Given the description of an element on the screen output the (x, y) to click on. 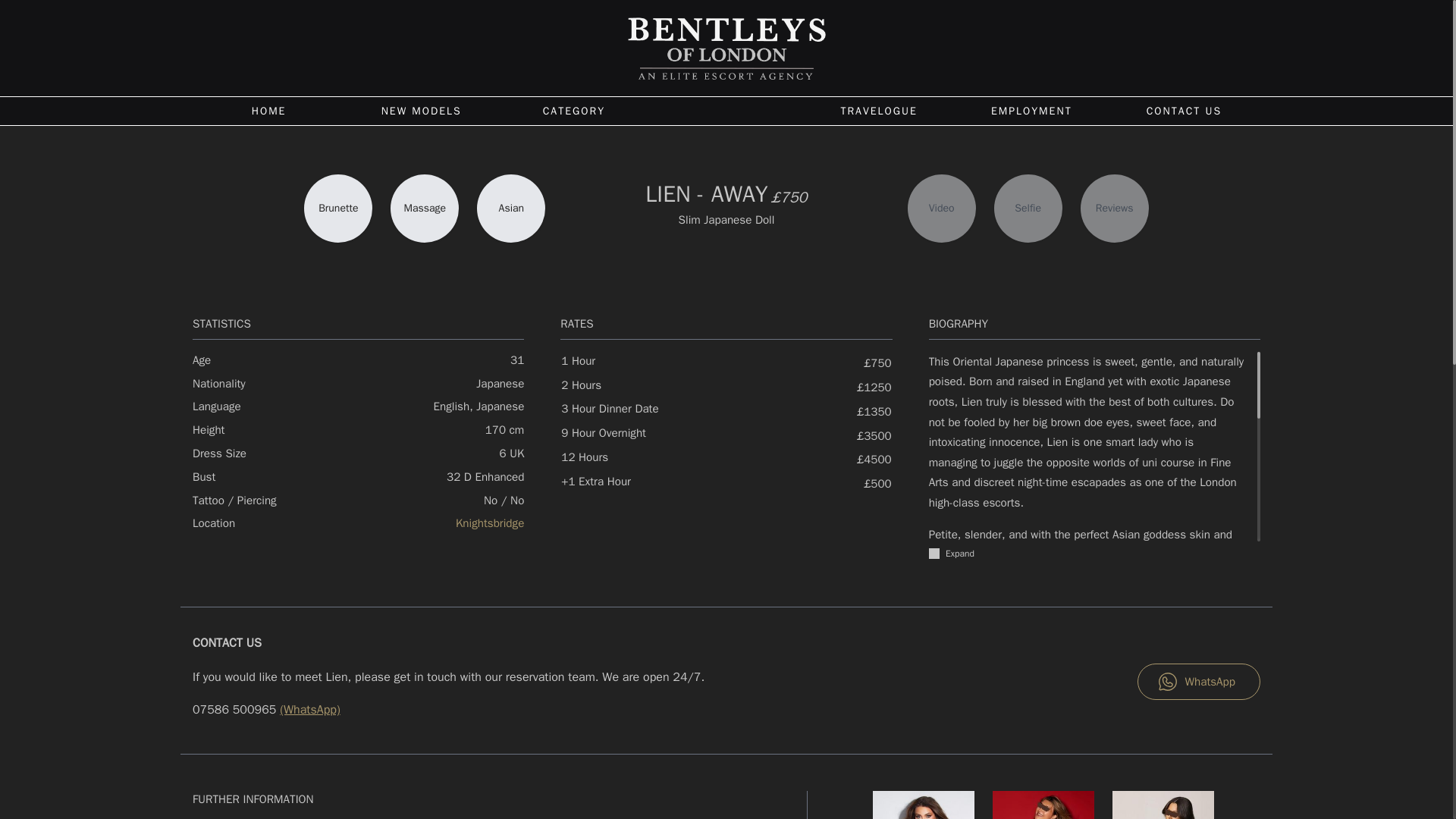
HOME (268, 111)
Asian (510, 208)
Selfie (1028, 208)
Brunette (338, 208)
Video (941, 208)
CATEGORY (573, 111)
Brunette (338, 208)
WhatsApp (1198, 681)
Asian (510, 208)
INTERNATIONAL (718, 109)
